Given the description of an element on the screen output the (x, y) to click on. 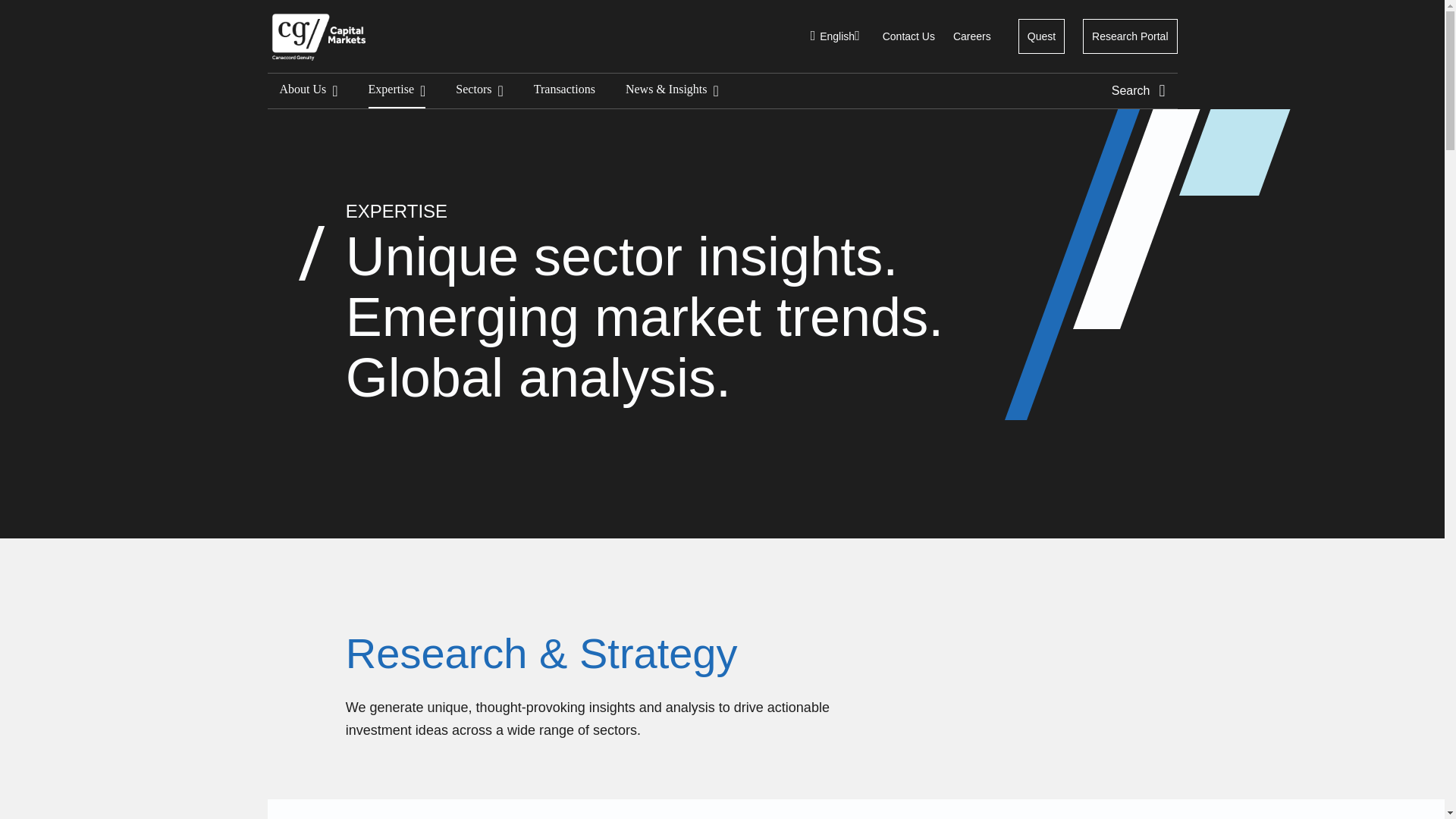
Sectors (478, 90)
About Us (308, 90)
Expertise (397, 90)
Research Portal (1129, 36)
Careers (972, 36)
English (837, 36)
Contact Us (908, 36)
Quest (1041, 36)
